Given the description of an element on the screen output the (x, y) to click on. 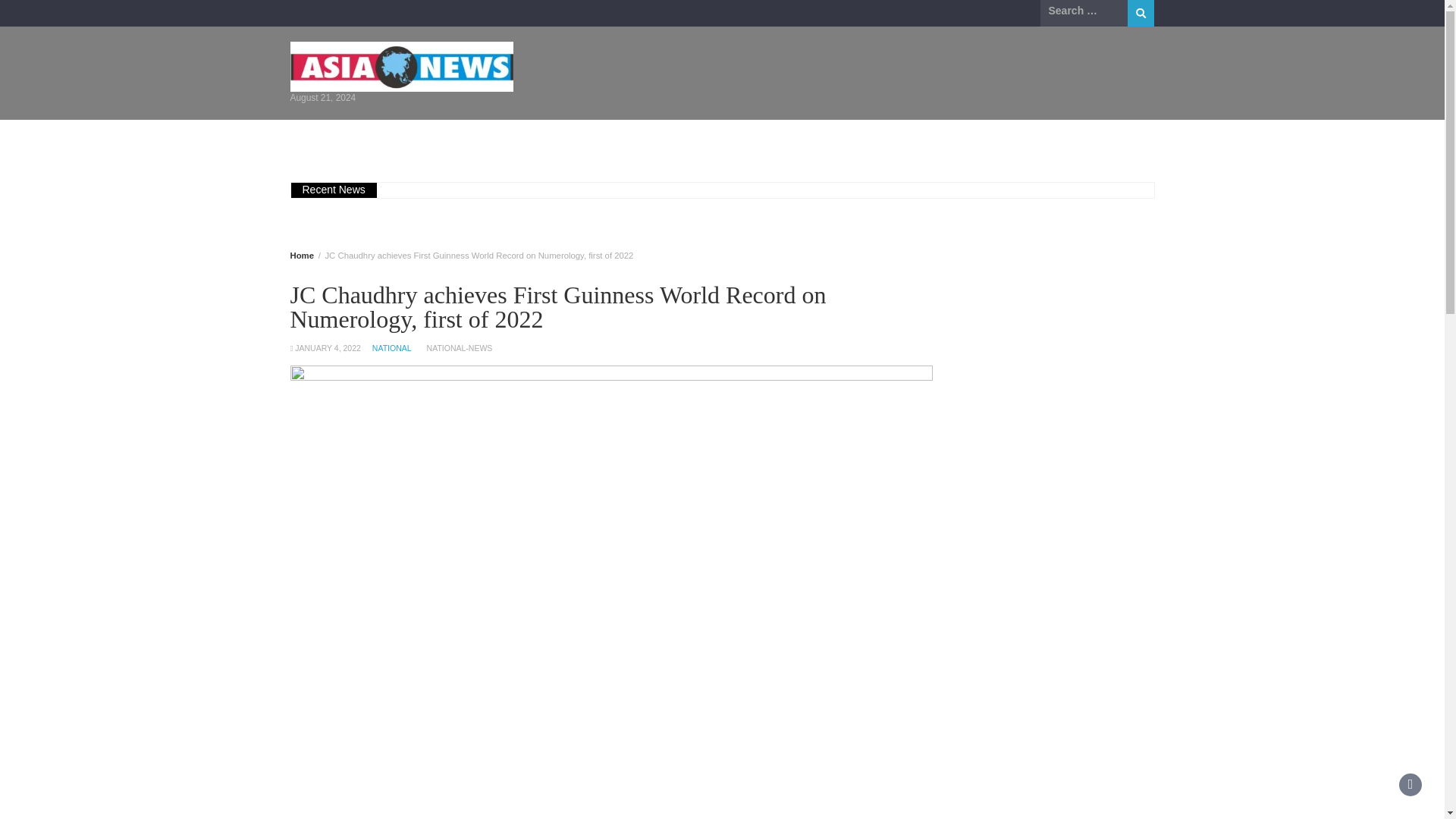
Technology (740, 139)
Search (1140, 13)
Search for: (1083, 11)
NATIONAL-NEWS (459, 347)
Entertainment (567, 139)
National (657, 139)
Press Release (900, 139)
World (817, 139)
Business (394, 139)
Home (323, 139)
